Given the description of an element on the screen output the (x, y) to click on. 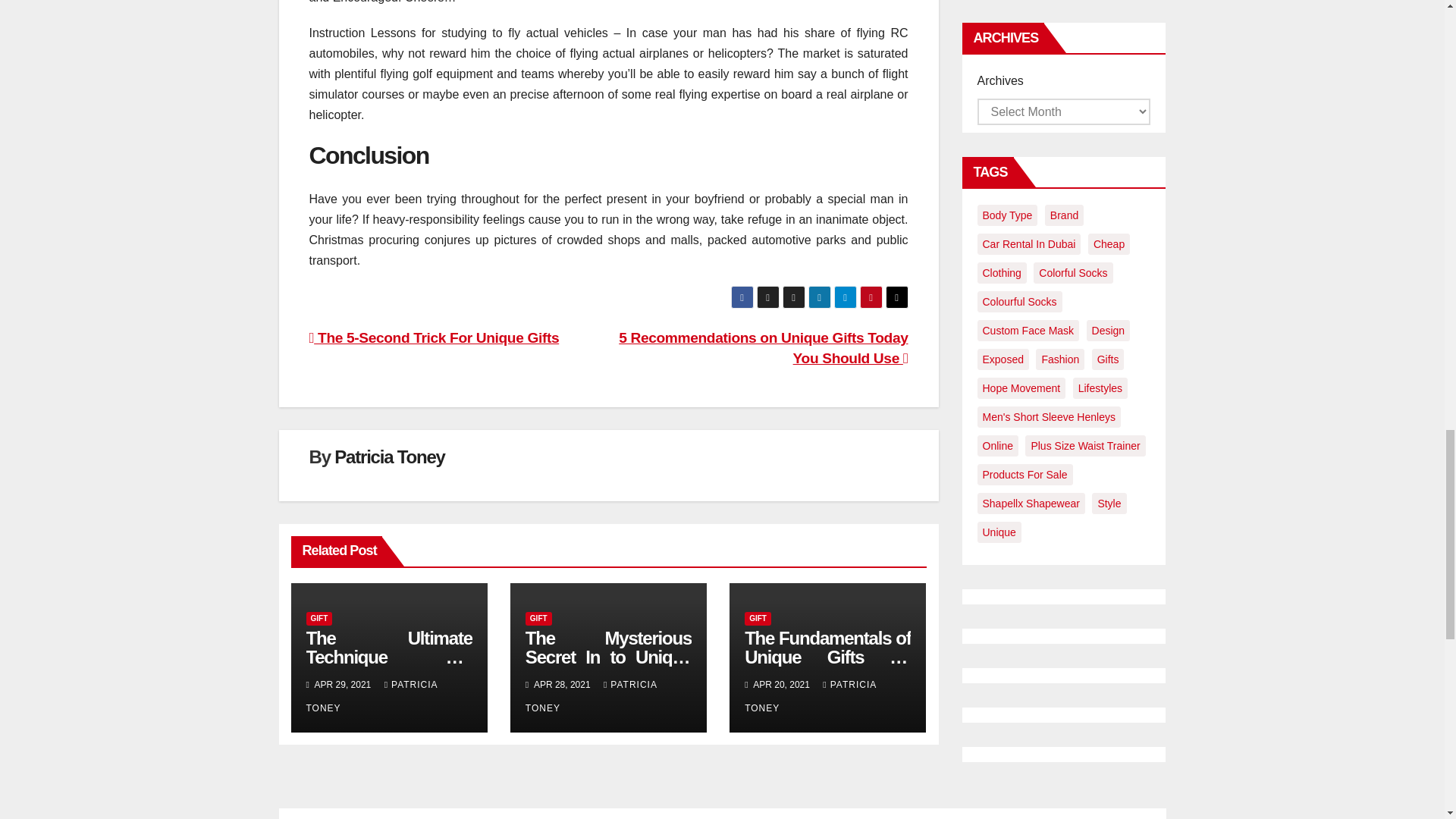
The 5-Second Trick For Unique Gifts (433, 337)
5 Recommendations on Unique Gifts Today You Should Use (762, 348)
Patricia Toney (389, 456)
GIFT (538, 618)
The Mysterious Secret In to Unique Gifts Uncovered (608, 657)
GIFT (319, 618)
PATRICIA TONEY (371, 696)
The Ultimate Technique For Unique Gifts (388, 657)
